Given the description of an element on the screen output the (x, y) to click on. 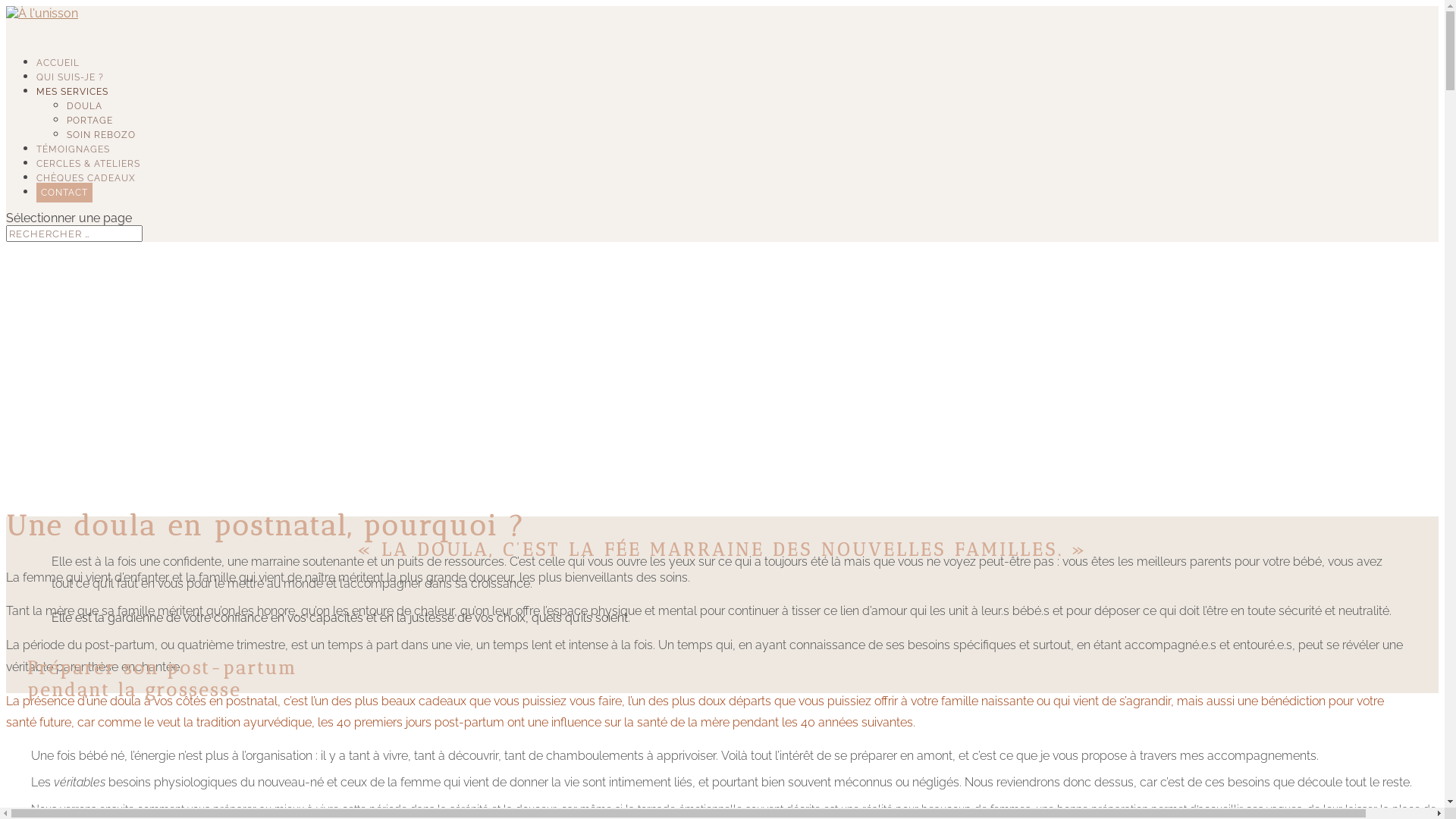
CONTACT Element type: text (64, 192)
Rechercher: Element type: hover (74, 233)
PORTAGE Element type: text (89, 120)
ACCUEIL Element type: text (57, 73)
QUI SUIS-JE ? Element type: text (69, 88)
CERCLES & ATELIERS Element type: text (88, 174)
MES SERVICES Element type: text (72, 102)
SOIN REBOZO Element type: text (100, 134)
DOULA Element type: text (84, 105)
